Given the description of an element on the screen output the (x, y) to click on. 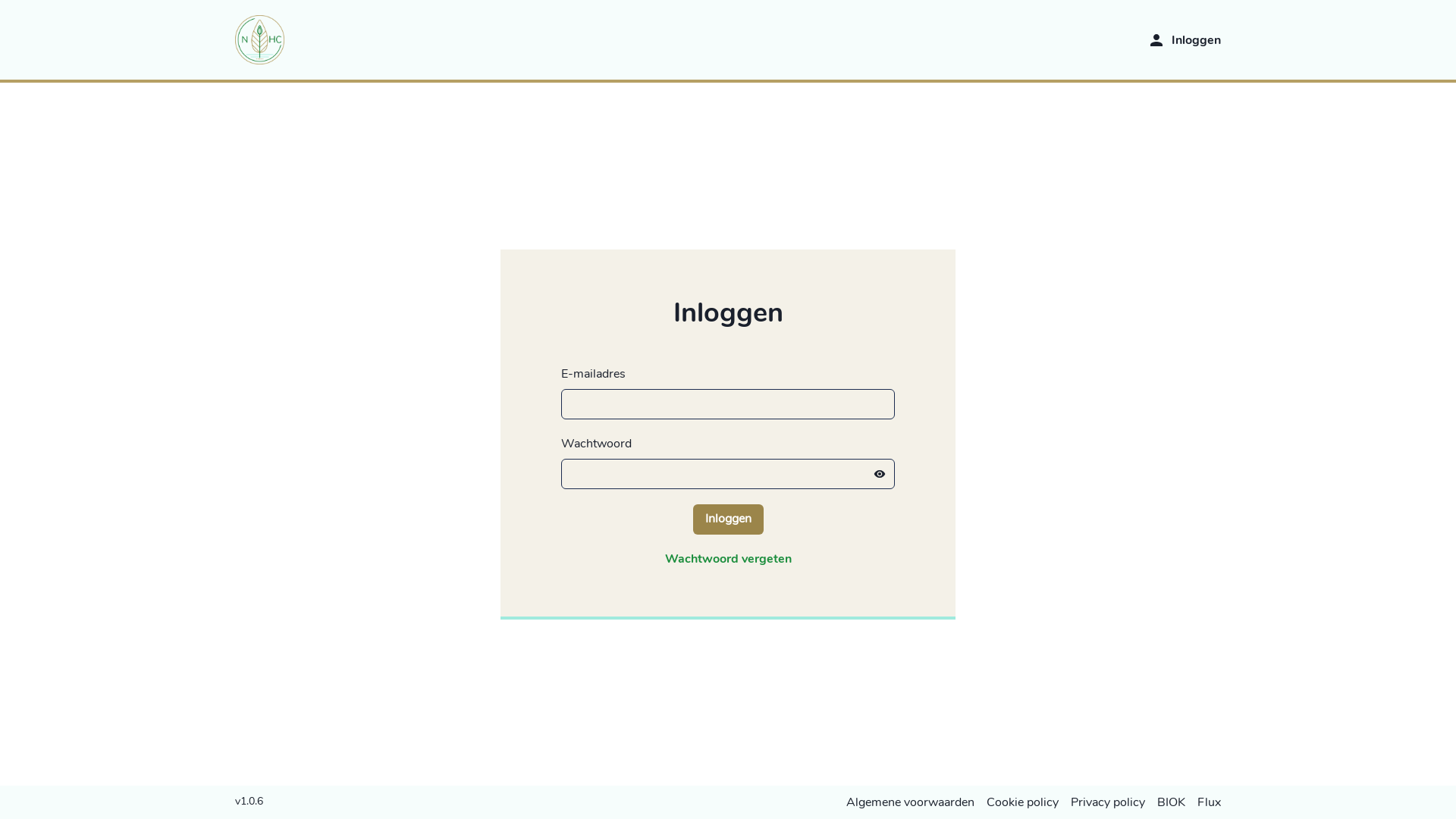
BIOK Element type: text (1171, 801)
Cookie policy Element type: text (1022, 801)
Privacy policy Element type: text (1107, 801)
Inloggen Element type: text (728, 519)
Wachtwoord vergeten Element type: text (727, 558)
Algemene voorwaarden Element type: text (910, 801)
Inloggen Element type: text (1195, 40)
Flux Element type: text (1208, 801)
